Given the description of an element on the screen output the (x, y) to click on. 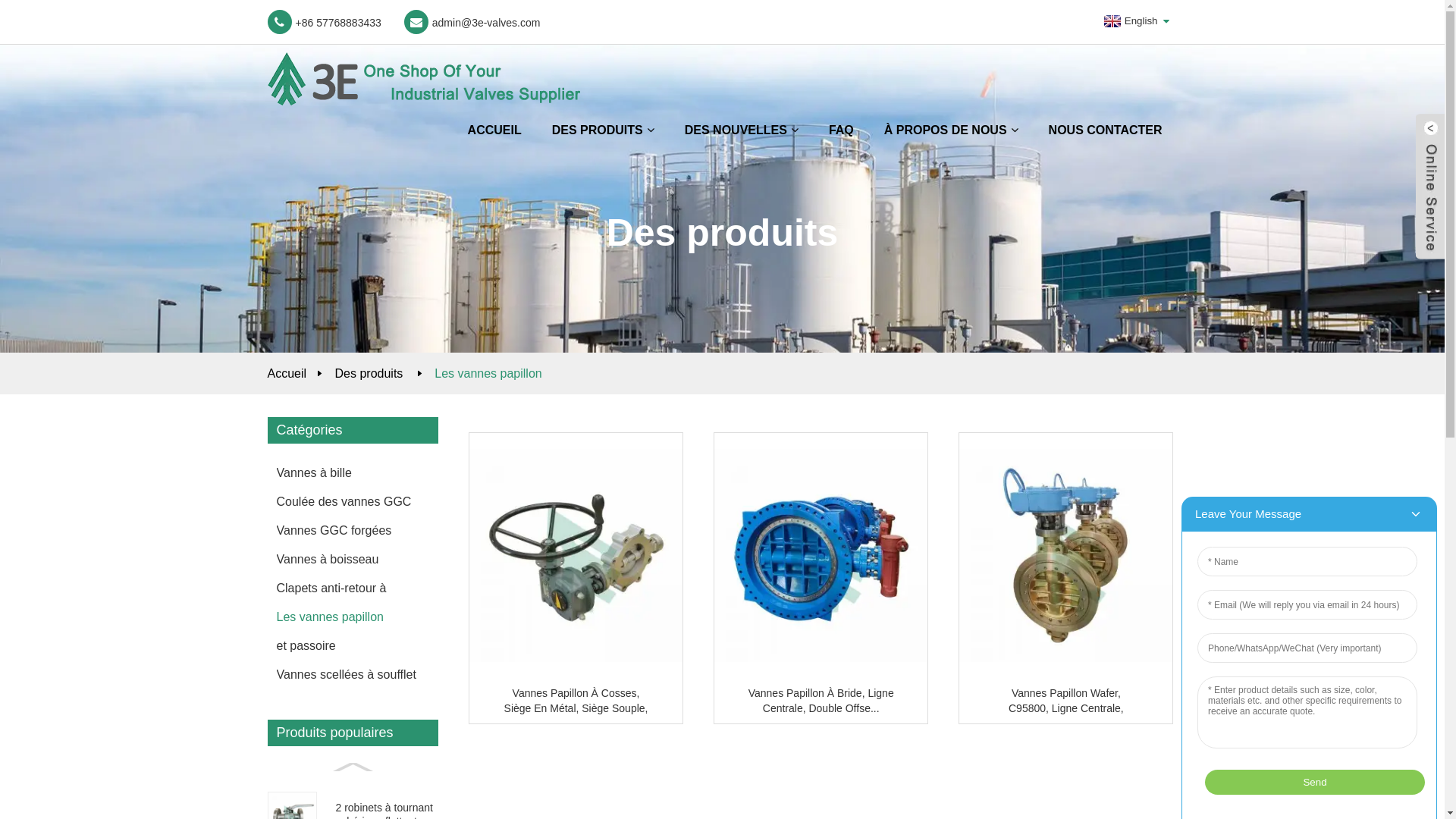
Les vannes papillon Element type: text (487, 373)
Les vannes papillon Element type: text (349, 616)
ACCUEIL Element type: text (494, 129)
Des produits Element type: text (369, 373)
et passoire Element type: text (349, 645)
English Element type: text (1128, 21)
DES PRODUITS Element type: text (602, 129)
admin@3e-valves.com Element type: text (472, 21)
Accueil Element type: text (286, 373)
NOUS CONTACTER Element type: text (1105, 129)
DES NOUVELLES Element type: text (741, 129)
Vannes Papillon Wafer, C95800, Ligne Centrale, Double... Element type: text (1065, 700)
FAQ Element type: text (841, 129)
